Given the description of an element on the screen output the (x, y) to click on. 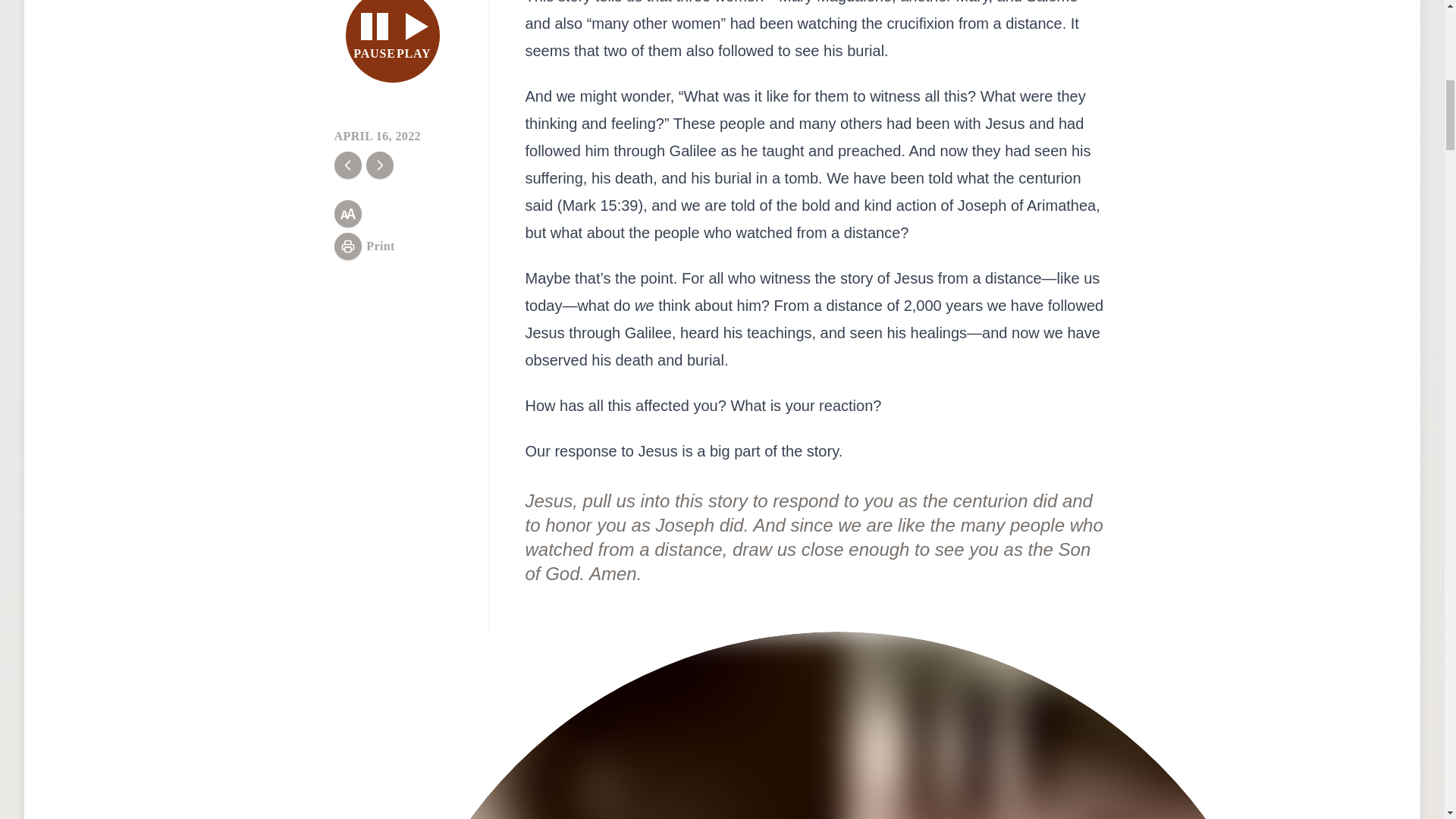
Print (392, 41)
